Given the description of an element on the screen output the (x, y) to click on. 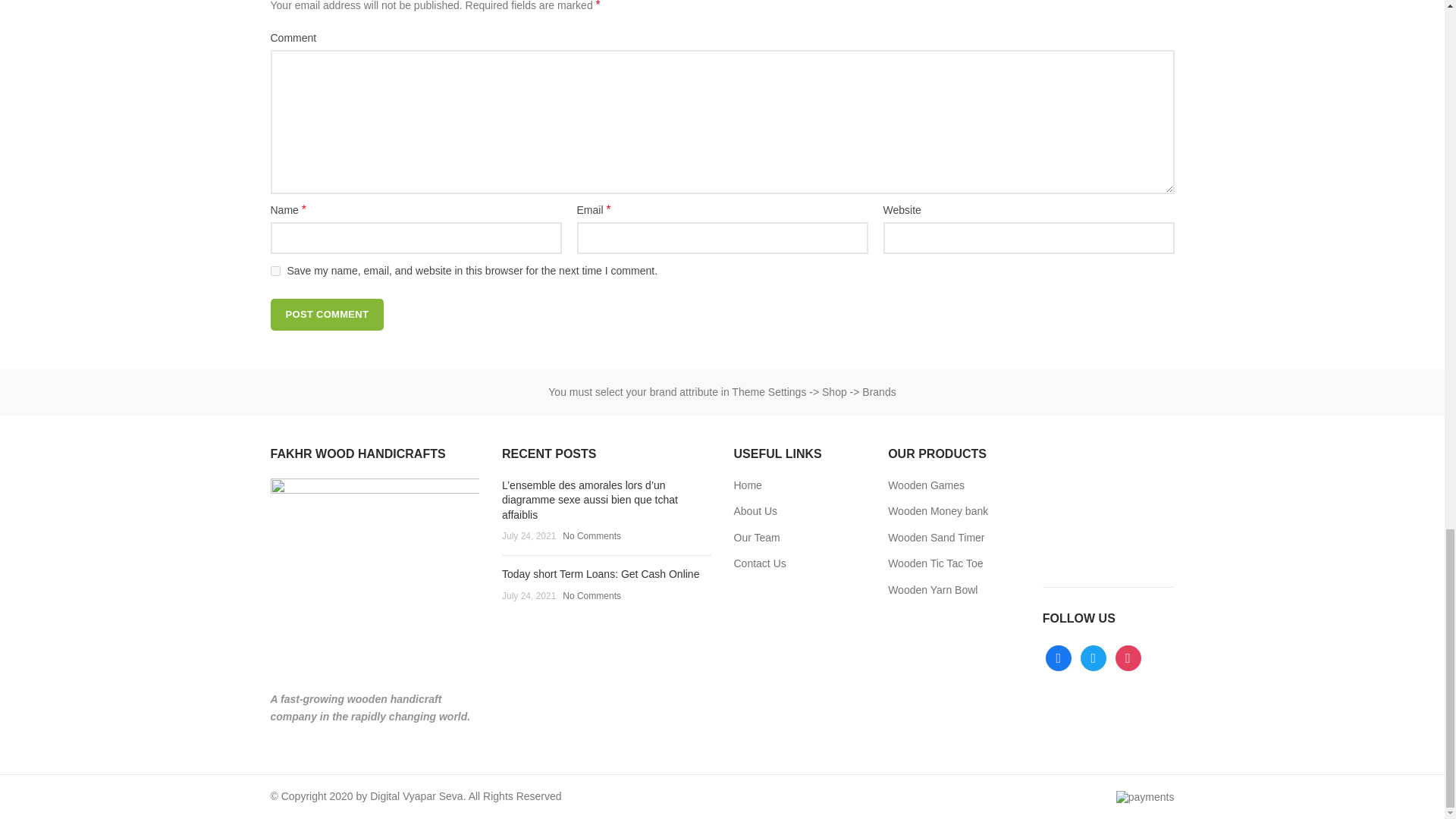
yes (274, 271)
Post Comment (326, 314)
Permalink to Today short Term Loans: Get Cash Online (600, 573)
